Given the description of an element on the screen output the (x, y) to click on. 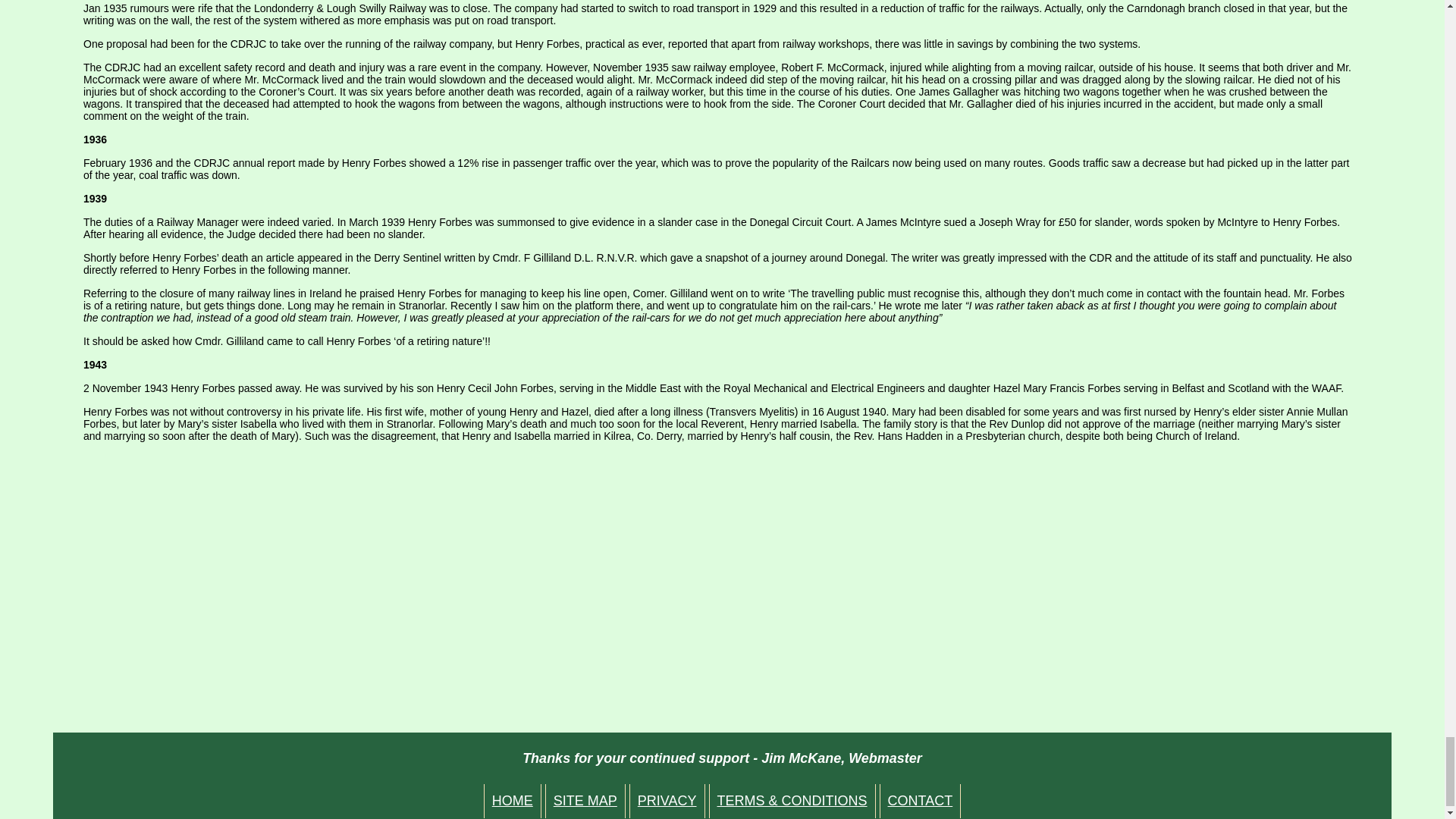
SITE MAP (585, 800)
PRIVACY (666, 800)
CONTACT (919, 800)
HOME (512, 800)
